Given the description of an element on the screen output the (x, y) to click on. 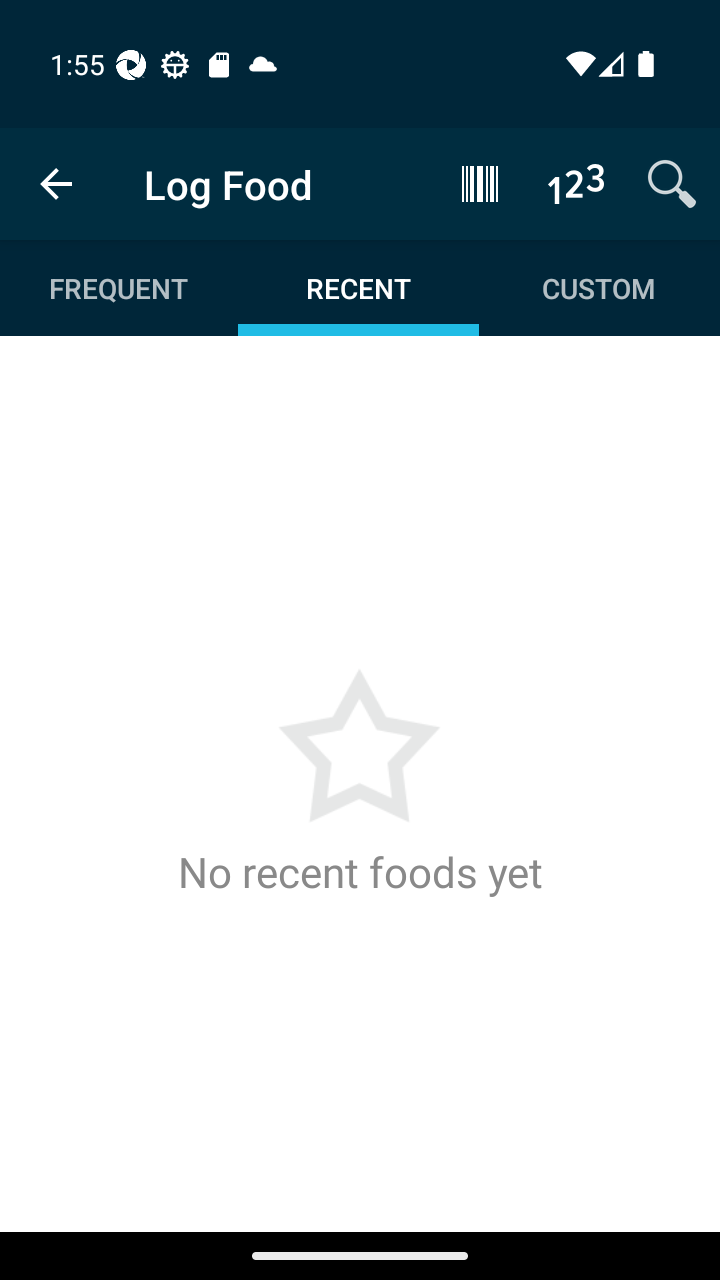
Navigate up (56, 184)
Barcode scanner (479, 183)
Add Quick Calories (575, 183)
Search database (672, 183)
FREQUENT (119, 287)
RECENT (358, 287)
CUSTOM (598, 287)
